Given the description of an element on the screen output the (x, y) to click on. 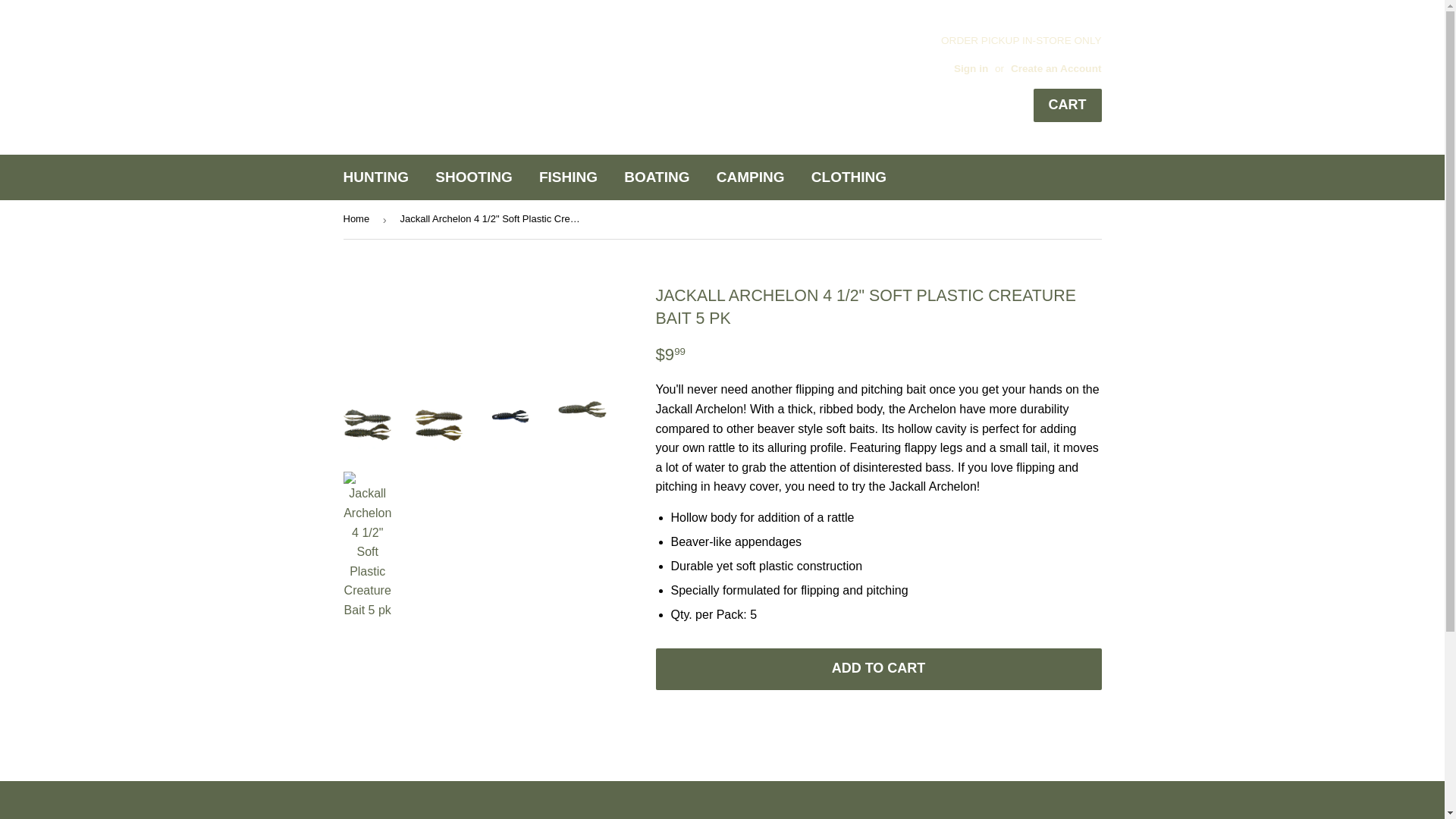
Back to the frontpage (358, 219)
CART (1066, 105)
Create an Account (1056, 68)
Sign in (970, 68)
